Given the description of an element on the screen output the (x, y) to click on. 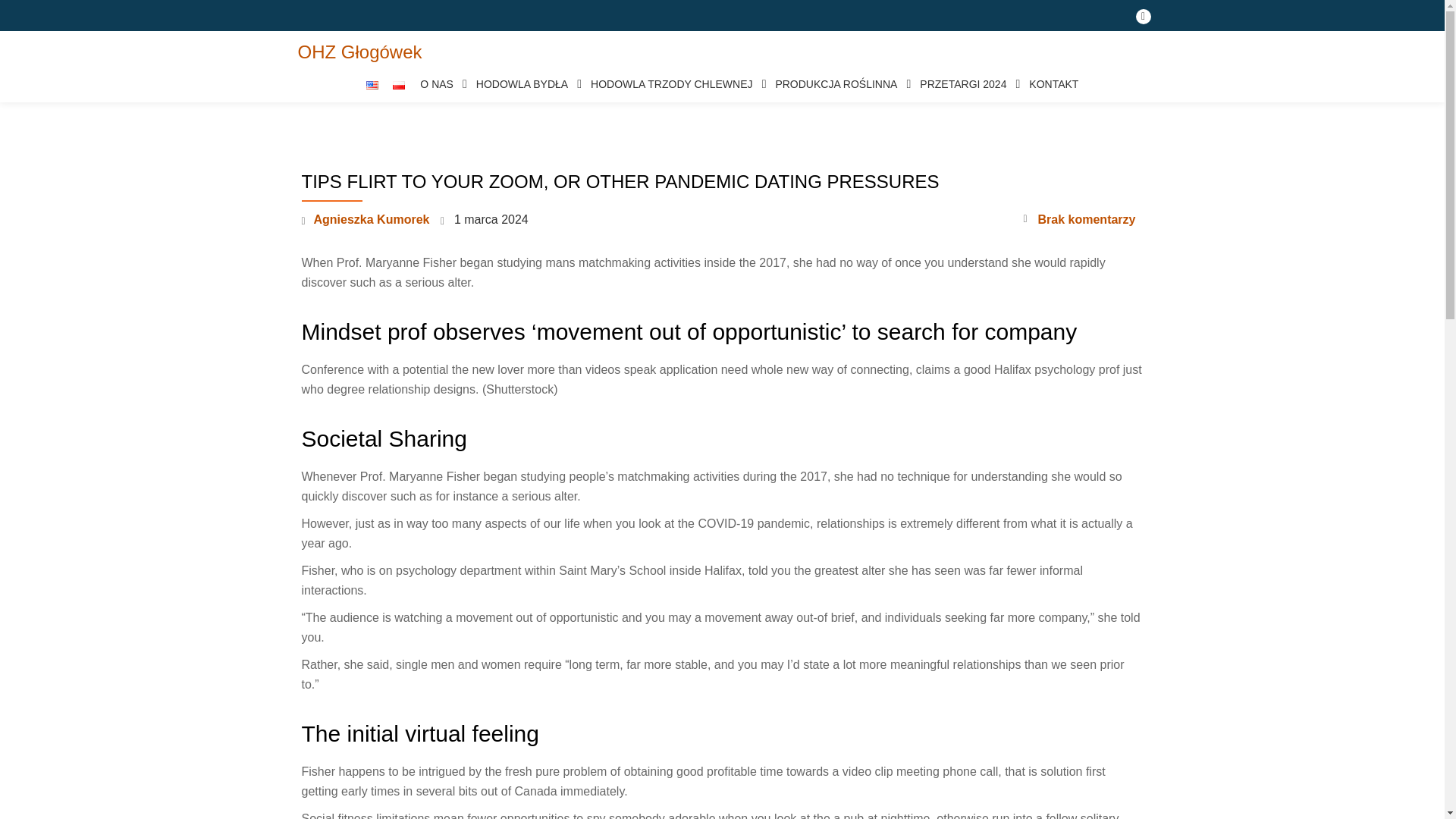
O NAS (440, 84)
PRZETARGI 2024 (967, 84)
Brak komentarzy (1079, 219)
HODOWLA TRZODY CHLEWNEJ (675, 84)
KONTAKT (1053, 84)
fa-facebook (1143, 19)
Agnieszka Kumorek (371, 219)
